Given the description of an element on the screen output the (x, y) to click on. 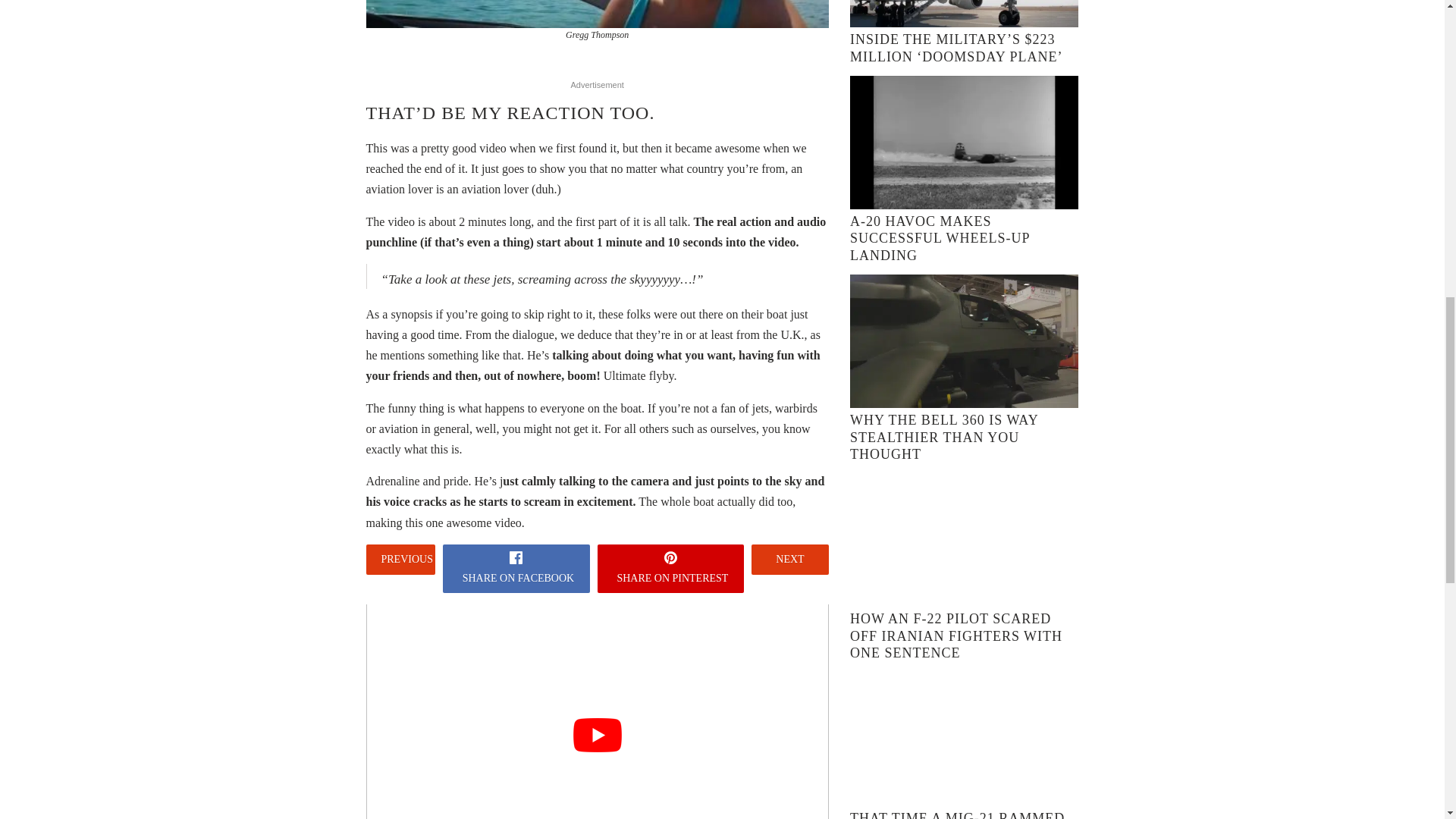
SHARE ON FACEBOOK (515, 568)
NEXT (789, 559)
Why the Bell 360 Is Way Stealthier Than You Thought (944, 436)
SHARE ON PINTEREST (670, 568)
PREVIOUS (400, 559)
THAT TIME A MIG-21 RAMMED AN F-4 (957, 814)
A-20 HAVOC MAKES SUCCESSFUL WHEELS-UP LANDING (939, 237)
WHY THE BELL 360 IS WAY STEALTHIER THAN YOU THOUGHT (944, 436)
A-20 Havoc Makes Successful Wheels-up Landing (939, 237)
